Given the description of an element on the screen output the (x, y) to click on. 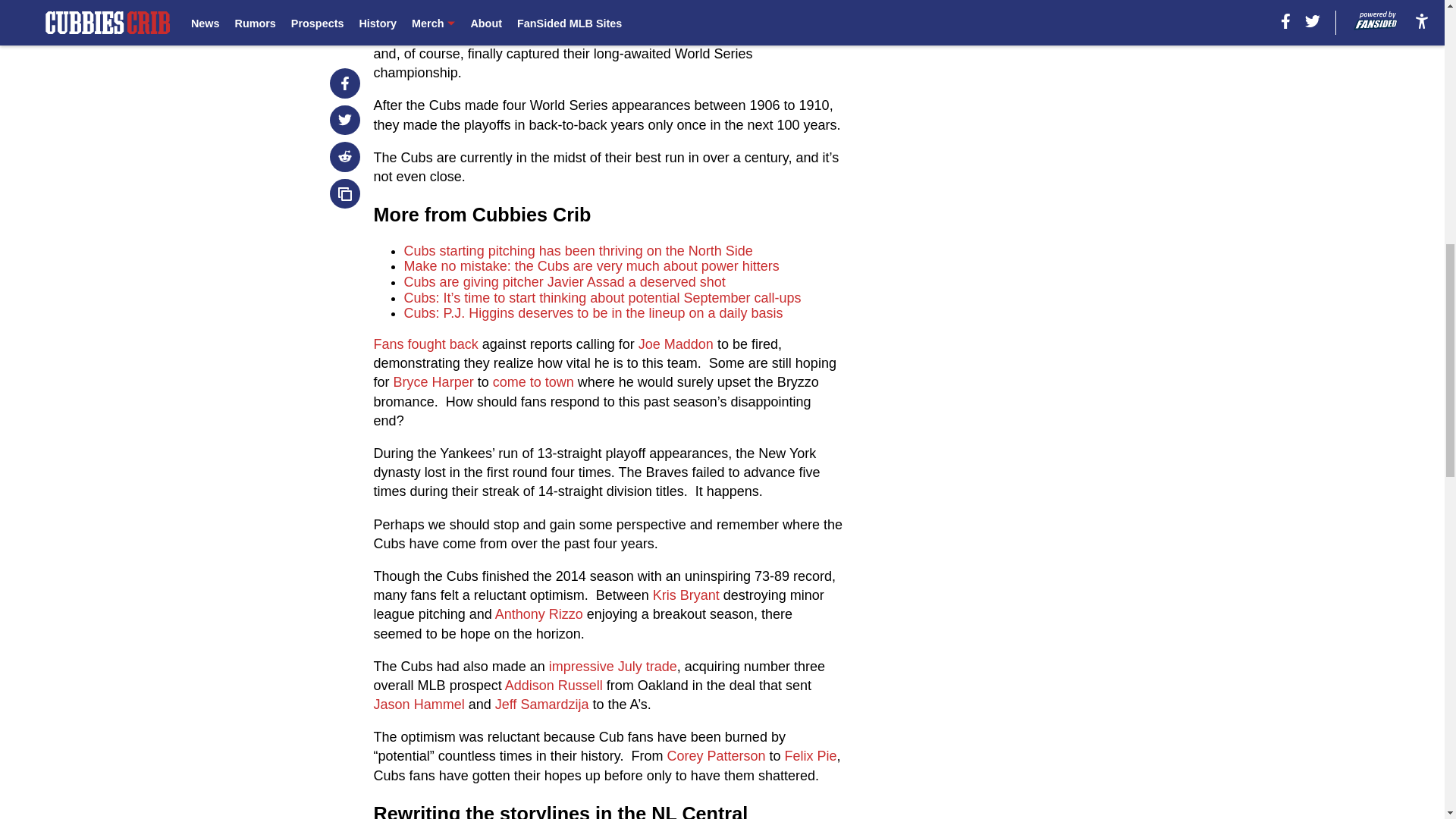
Cubs starting pitching has been thriving on the North Side (578, 250)
come to town (533, 381)
Joe Maddon (676, 344)
Fans fought back (426, 344)
Bryce Harper (433, 381)
Cubs are giving pitcher Javier Assad a deserved shot (564, 281)
Make no mistake: the Cubs are very much about power hitters (591, 265)
